Given the description of an element on the screen output the (x, y) to click on. 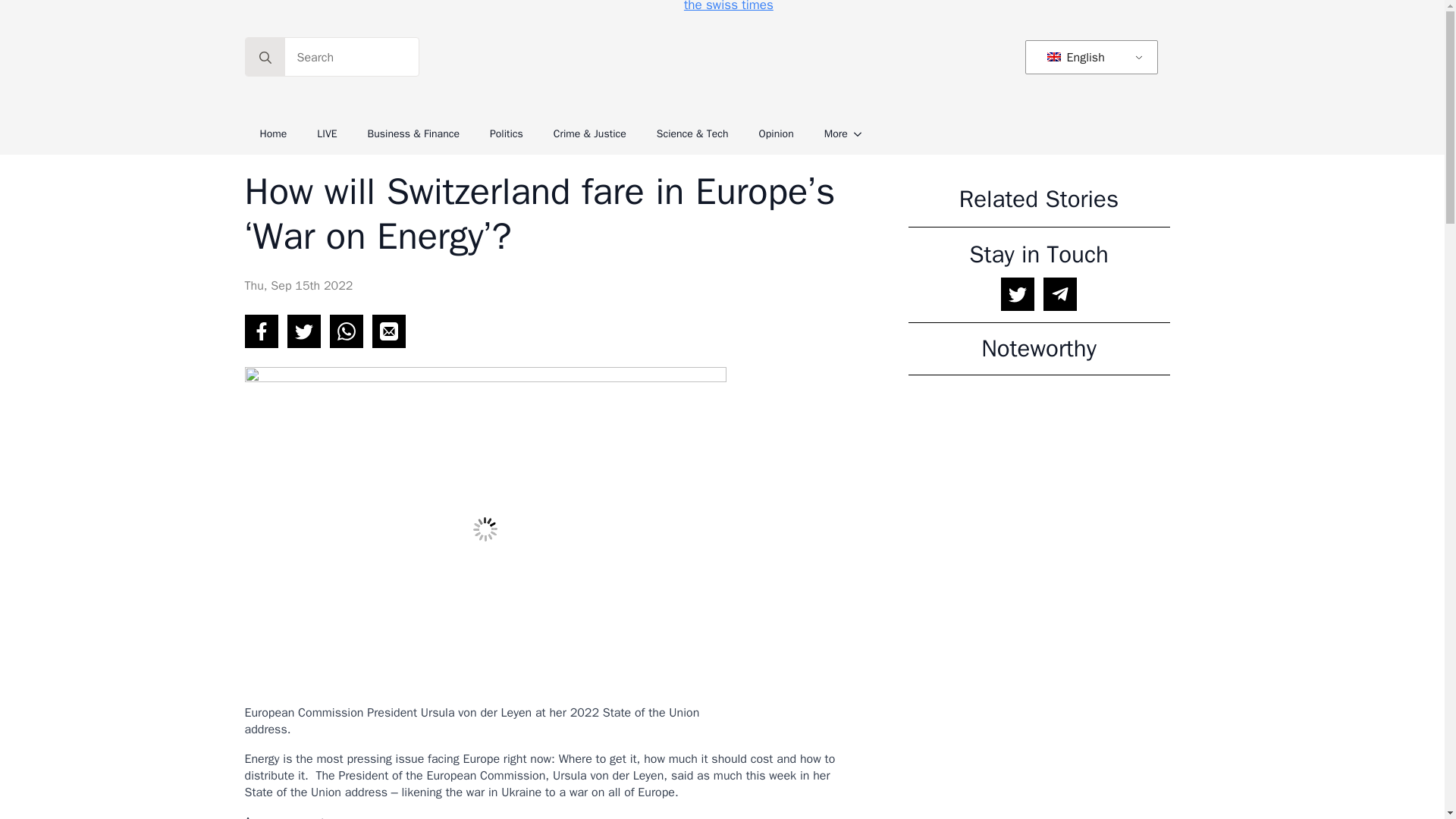
English (1088, 57)
Opinion (776, 133)
English (1053, 56)
Home (272, 133)
English (1088, 57)
More (828, 133)
Politics (506, 133)
LIVE (326, 133)
